Given the description of an element on the screen output the (x, y) to click on. 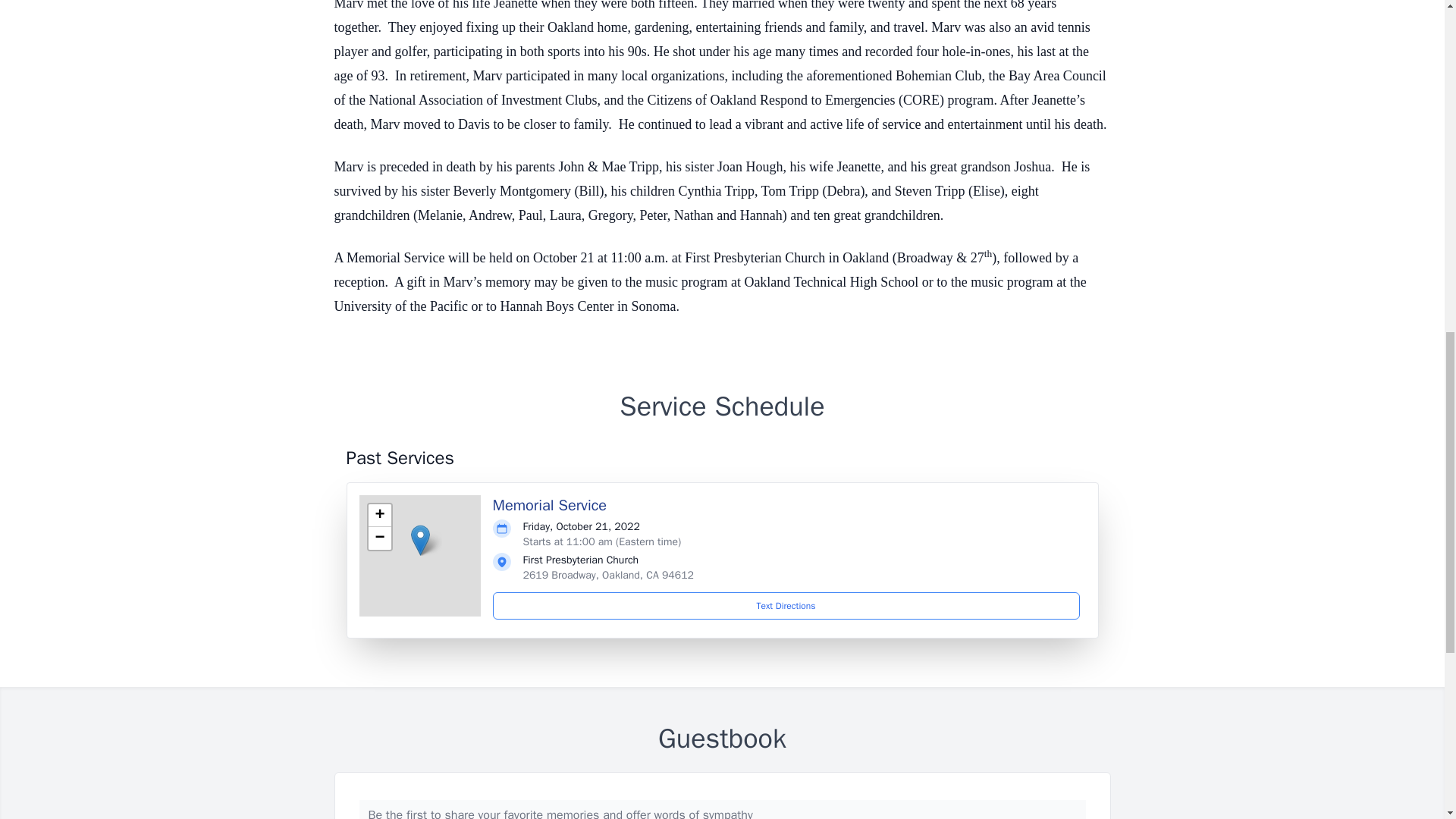
Zoom out (379, 538)
2619 Broadway, Oakland, CA 94612 (608, 574)
Text Directions (786, 605)
Zoom in (379, 515)
